Given the description of an element on the screen output the (x, y) to click on. 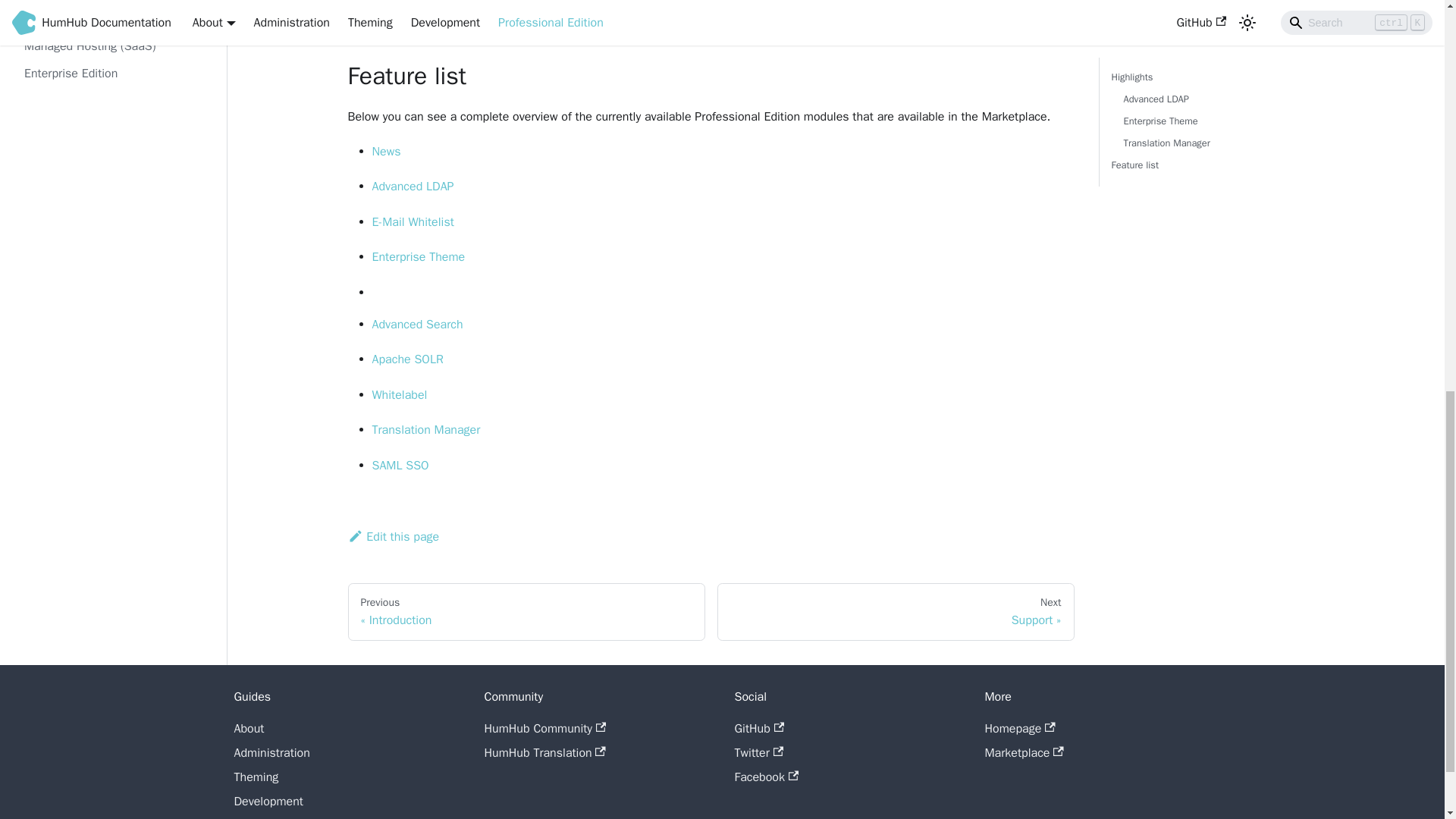
Apache SOLR (406, 359)
Enterprise Theme (417, 256)
Advanced Search (417, 324)
News (385, 151)
E-Mail Whitelist (411, 222)
Advanced LDAP (411, 186)
